Given the description of an element on the screen output the (x, y) to click on. 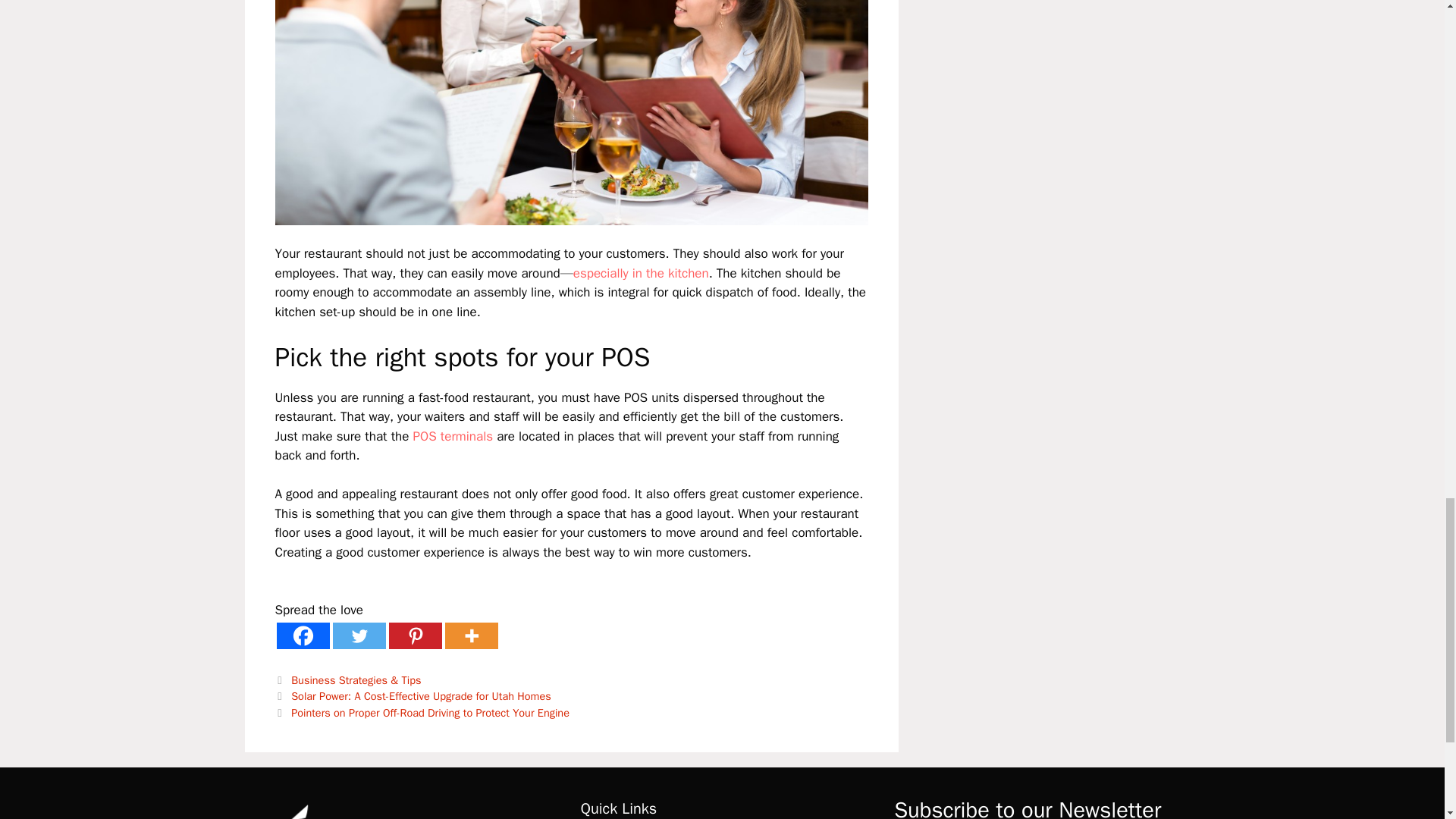
The Balance Small Business (452, 436)
Pointers on Proper Off-Road Driving to Protect Your Engine (430, 712)
POS terminals (452, 436)
especially in the kitchen (641, 273)
Facebook (302, 635)
Thrillist (641, 273)
Solar Power: A Cost-Effective Upgrade for Utah Homes (421, 695)
